Given the description of an element on the screen output the (x, y) to click on. 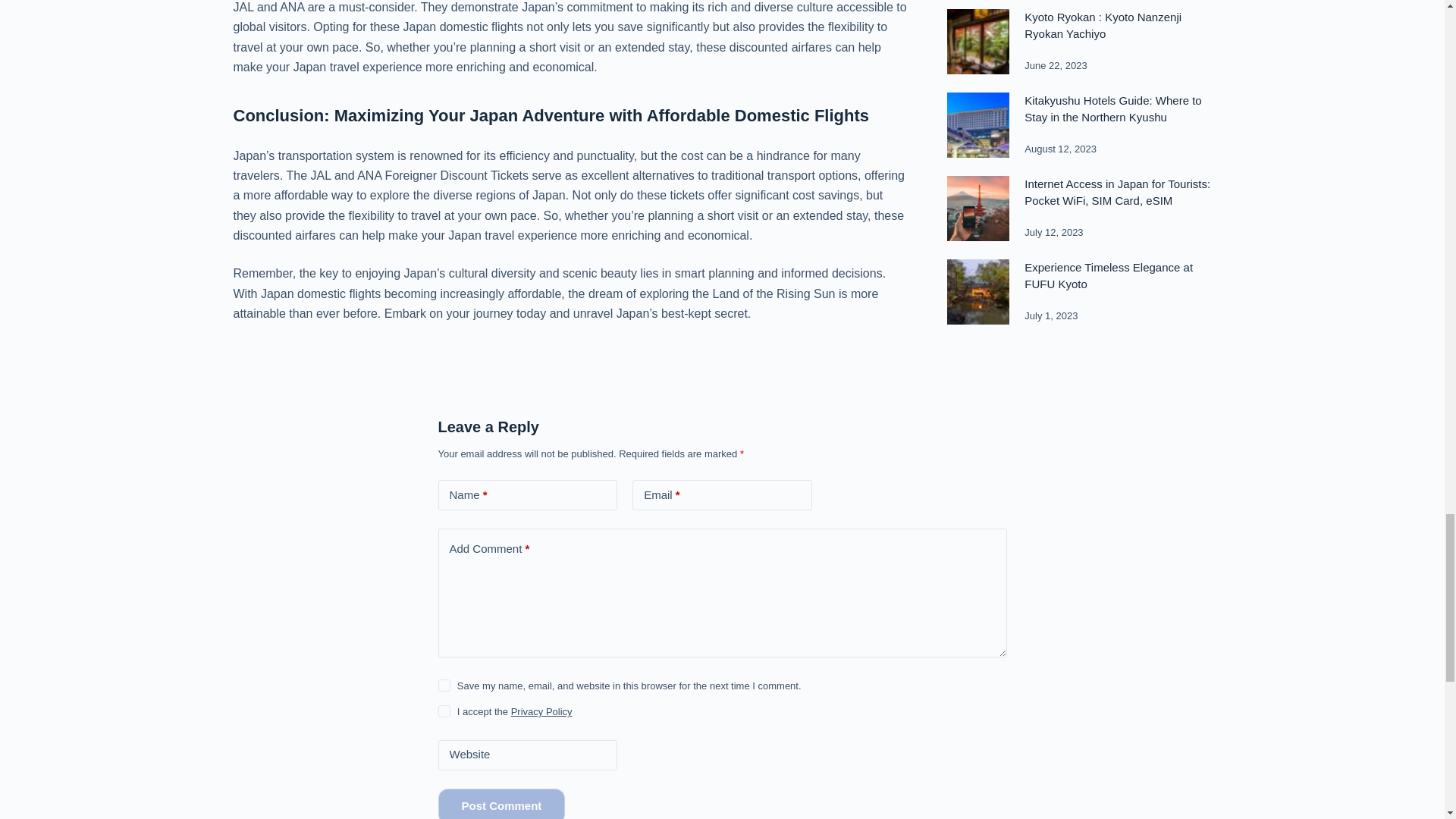
on (443, 711)
yes (443, 685)
Privacy Policy (541, 711)
